Given the description of an element on the screen output the (x, y) to click on. 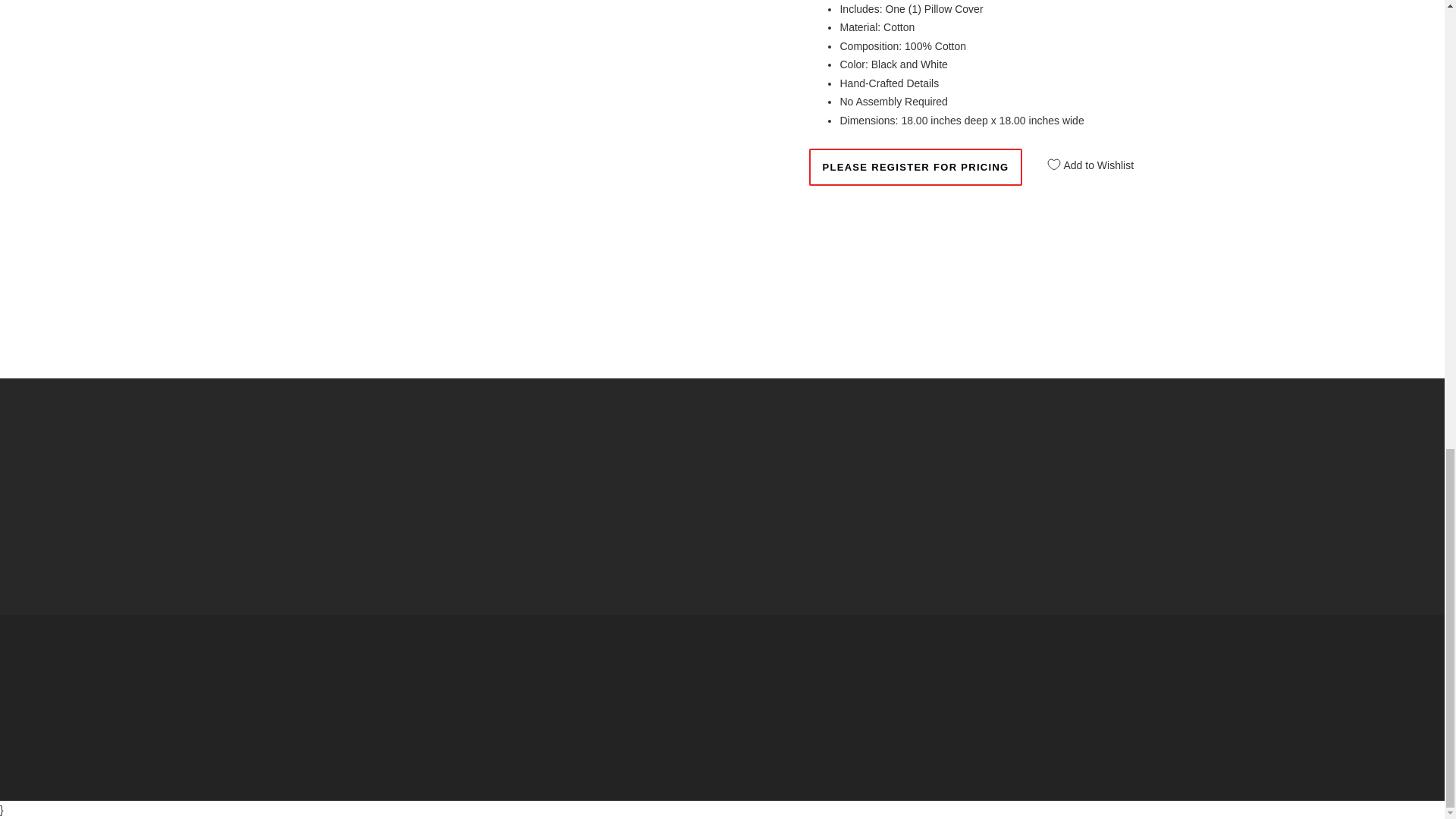
Add to Wishlist (1085, 159)
